Given the description of an element on the screen output the (x, y) to click on. 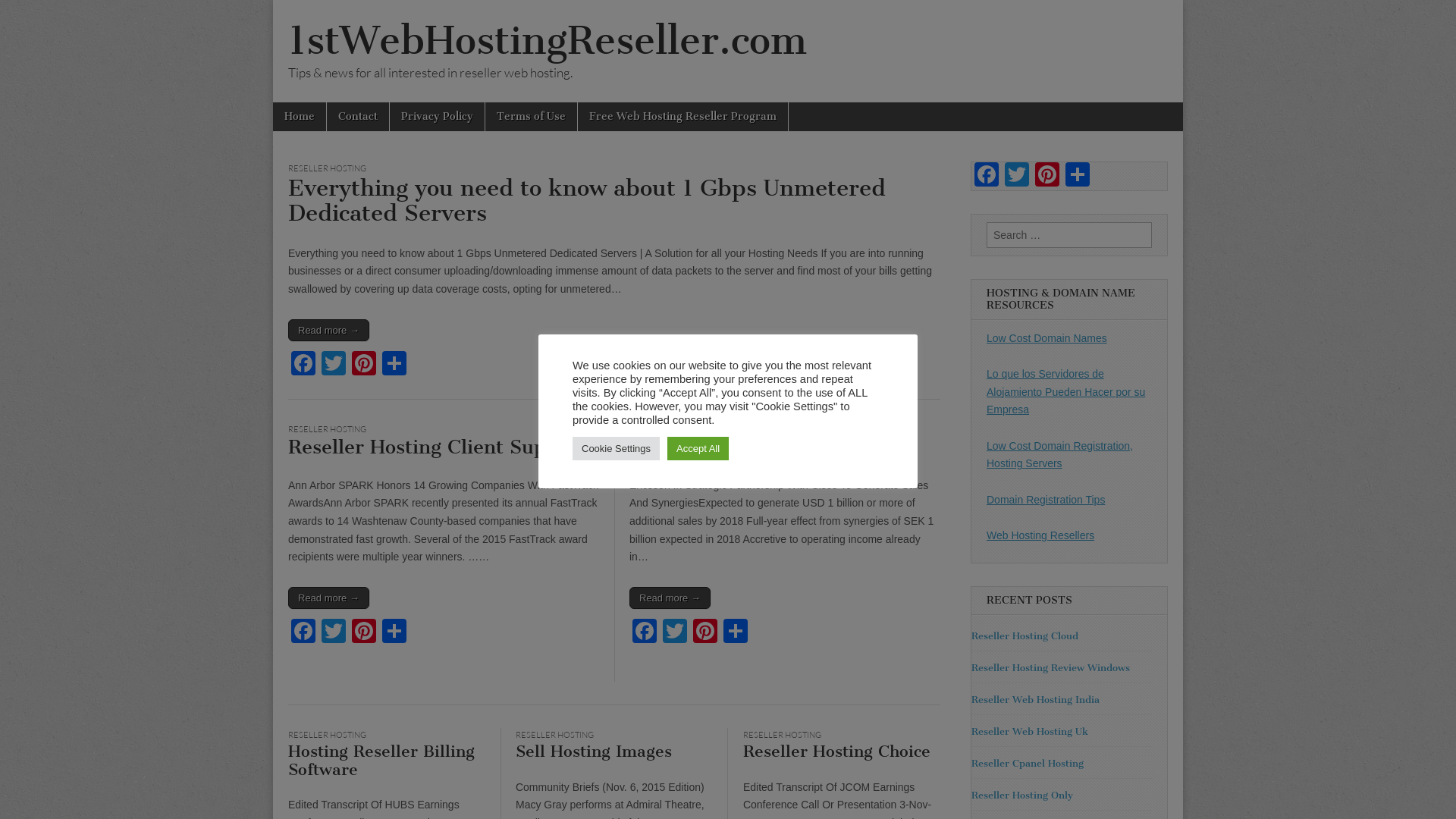
Share Element type: text (1077, 176)
Reseller Hosting Only Element type: text (1022, 794)
Web Hosting Resellers Element type: text (1040, 535)
RESELLER HOSTING Element type: text (554, 734)
Twitter Element type: text (674, 632)
Low Cost Domain Registration, Hosting Servers Element type: text (1059, 454)
Home Element type: text (299, 116)
Twitter Element type: text (333, 365)
Pinterest Element type: text (705, 632)
Hosting Reseller News Element type: text (733, 446)
Reseller Hosting Cloud Element type: text (1024, 635)
RESELLER HOSTING Element type: text (327, 428)
Privacy Policy Element type: text (436, 116)
Cookie Settings Element type: text (615, 448)
RESELLER HOSTING Element type: text (782, 734)
Low Cost Domain Names Element type: text (1046, 338)
RESELLER HOSTING Element type: text (327, 734)
Skip to content Element type: text (272, 101)
Reseller Hosting Client Support Element type: text (436, 446)
Contact Element type: text (357, 116)
Facebook Element type: text (303, 365)
Share Element type: text (735, 632)
Pinterest Element type: text (363, 365)
1stWebHostingReseller.com Element type: text (547, 40)
Accept All Element type: text (697, 448)
Free Web Hosting Reseller Program Element type: text (682, 116)
Sell Hosting Images Element type: text (593, 750)
Domain Registration Tips Element type: text (1045, 499)
Reseller Cpanel Hosting Element type: text (1027, 762)
Facebook Element type: text (303, 632)
Terms of Use Element type: text (531, 116)
Pinterest Element type: text (363, 632)
Share Element type: text (394, 632)
Pinterest Element type: text (1047, 176)
Facebook Element type: text (986, 176)
Reseller Web Hosting Uk Element type: text (1029, 731)
Reseller Hosting Choice Element type: text (836, 750)
Share Element type: text (394, 365)
Twitter Element type: text (333, 632)
Facebook Element type: text (644, 632)
Reseller Web Hosting India Element type: text (1035, 699)
RESELLER HOSTING Element type: text (327, 168)
RESELLER HOSTING Element type: text (668, 428)
Hosting Reseller Billing Software Element type: text (381, 759)
Search Element type: text (23, 12)
Reseller Hosting Review Windows Element type: text (1050, 667)
Twitter Element type: text (1016, 176)
